Given the description of an element on the screen output the (x, y) to click on. 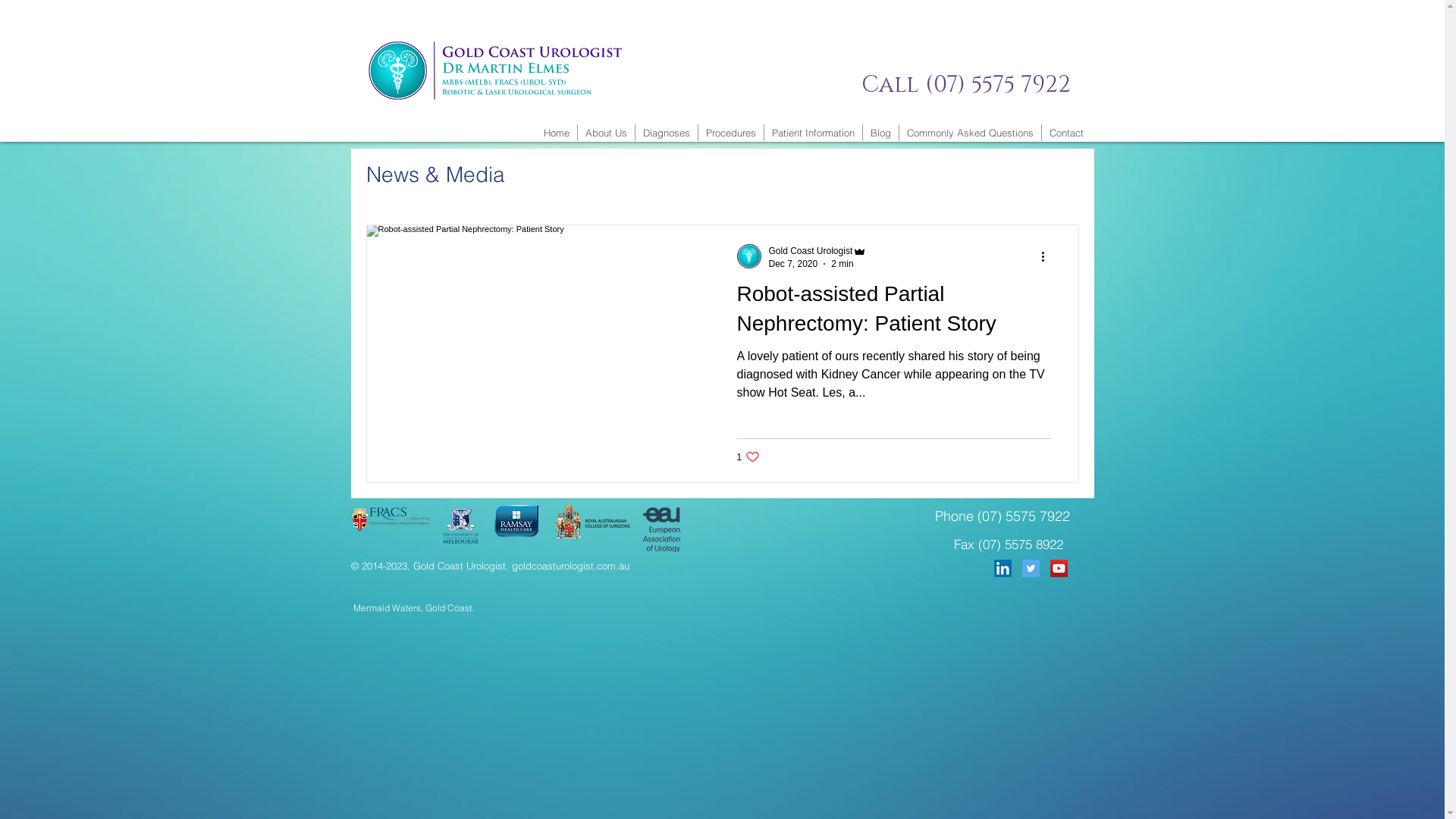
Robot-assisted Partial Nephrectomy: Patient Story Element type: text (894, 312)
Contact Element type: text (1066, 132)
Commonly Asked Questions Element type: text (970, 132)
Call (07) 5575 7922 Element type: text (965, 83)
1 like. Post not marked as liked
1 Element type: text (748, 456)
Home Element type: text (555, 132)
Diagnoses Element type: text (666, 132)
Patient Information Element type: text (813, 132)
Blog Element type: text (880, 132)
About Us Element type: text (605, 132)
Procedures Element type: text (729, 132)
